Given the description of an element on the screen output the (x, y) to click on. 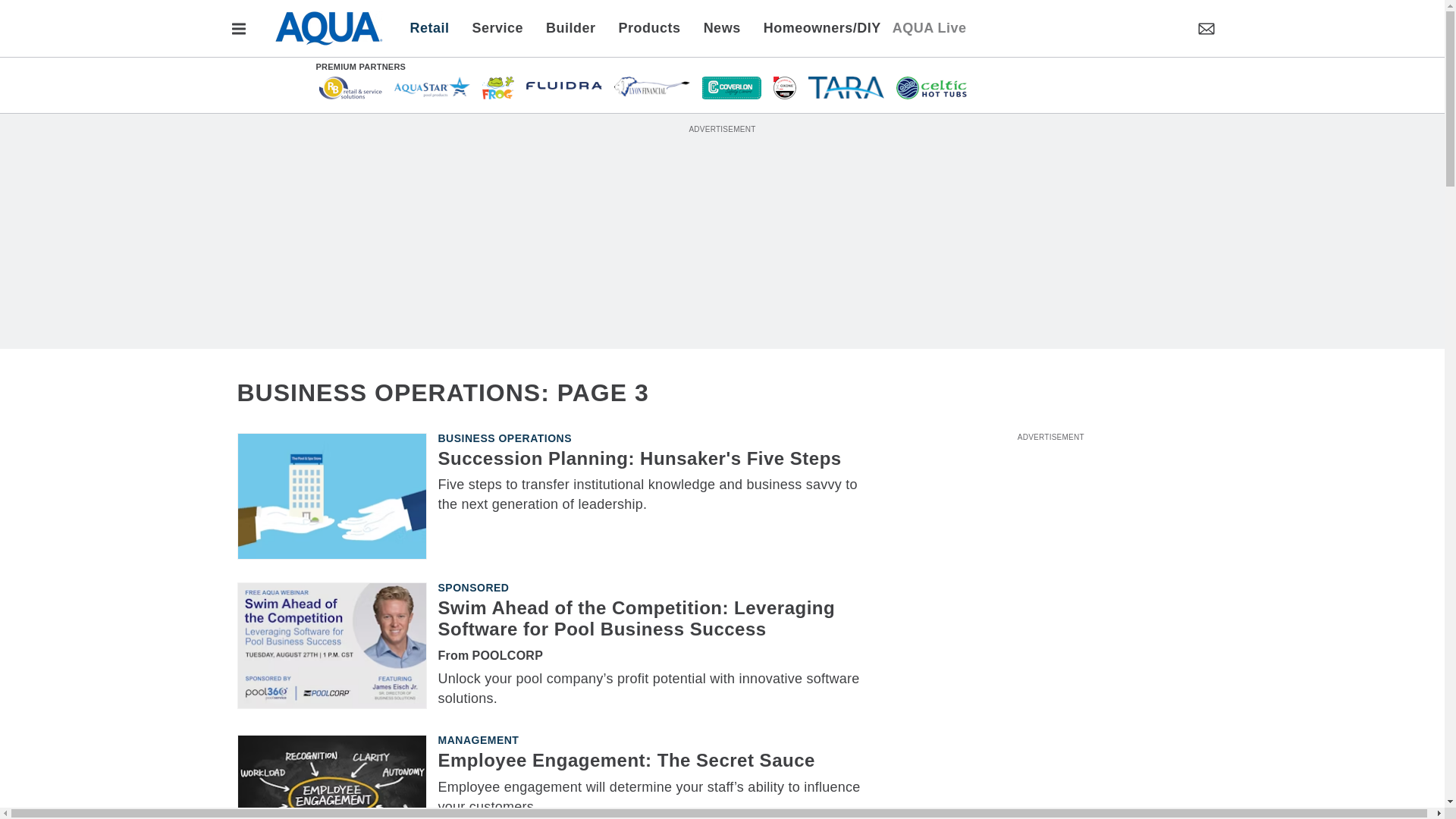
News (722, 27)
AquaStar (432, 86)
Builder (570, 27)
Retail (434, 27)
AQUA Live (929, 27)
Service (498, 27)
Products (650, 27)
